Given the description of an element on the screen output the (x, y) to click on. 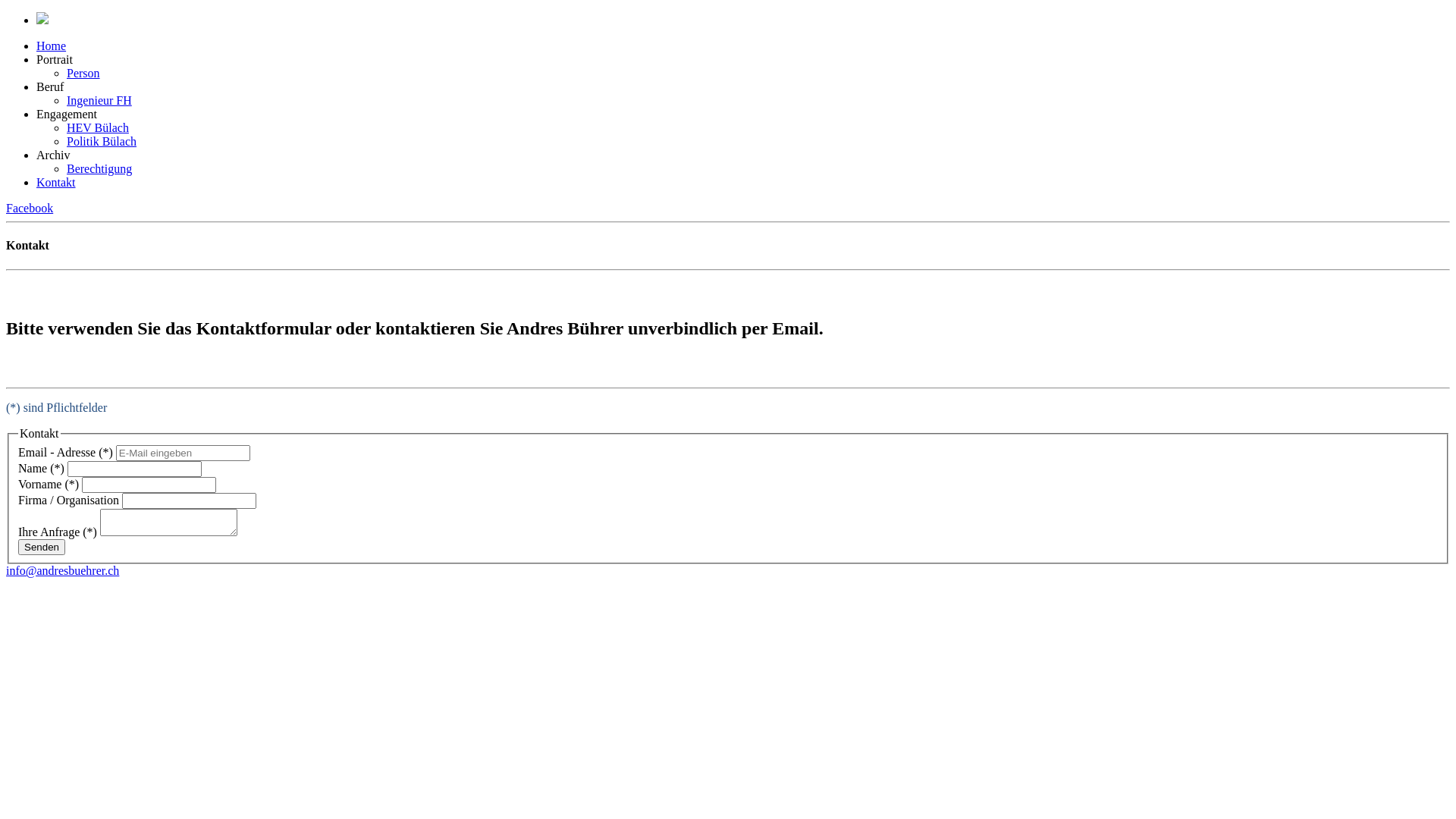
info@andresbuehrer.ch Element type: text (62, 570)
Senden Element type: text (41, 547)
Berechtigung Element type: text (98, 168)
Vorname (*) Element type: hover (148, 484)
Kontakt Element type: text (55, 181)
Facebook Element type: text (29, 207)
Ingenieur FH Element type: text (98, 100)
Firma / Organisation Element type: hover (189, 500)
Person Element type: text (83, 72)
Name (*) Element type: hover (134, 468)
Home Element type: text (50, 45)
